Given the description of an element on the screen output the (x, y) to click on. 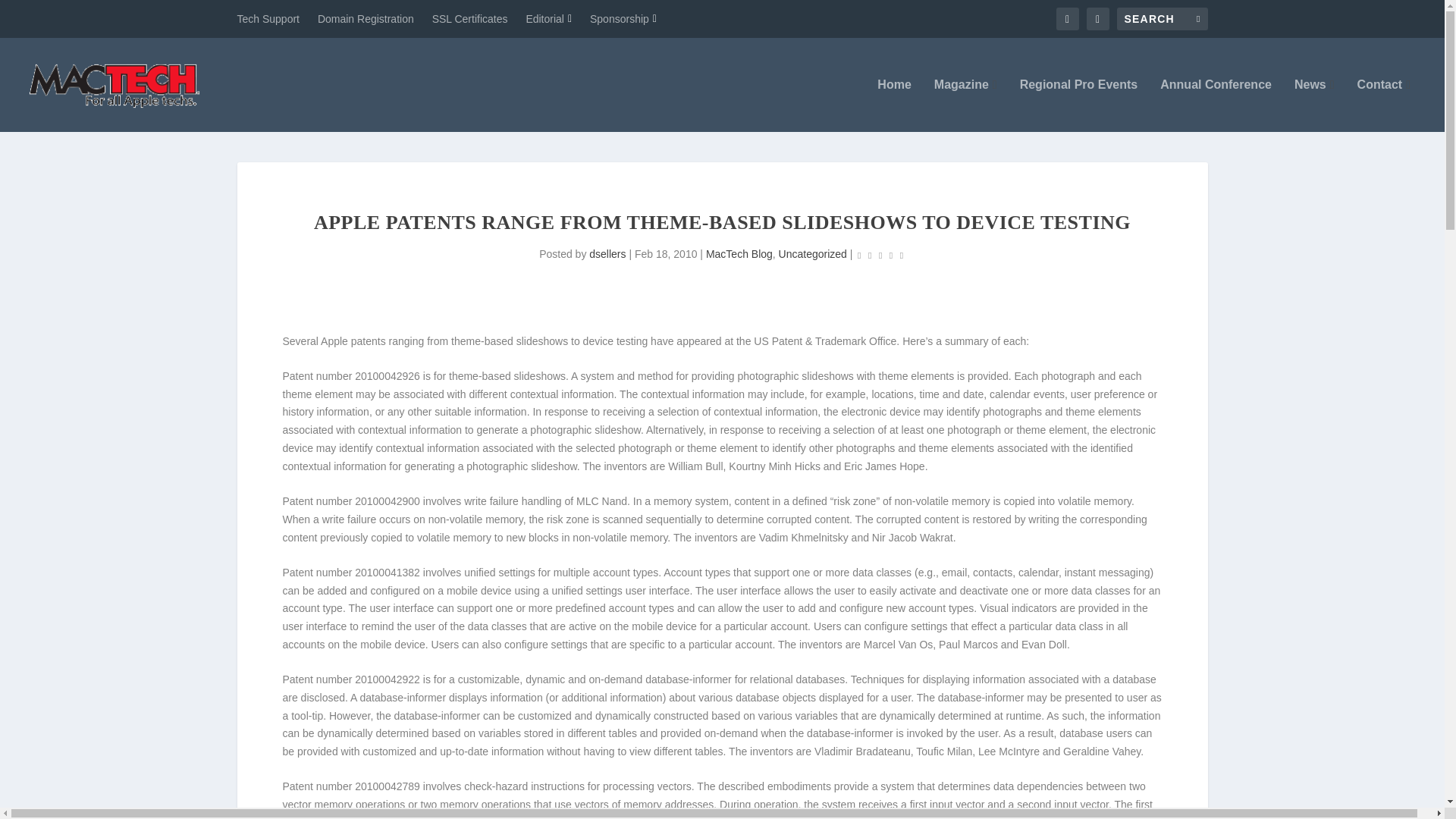
Domain Registration (365, 18)
SSL Certificates (470, 18)
Sponsorship (622, 18)
Magazine (965, 104)
Regional Pro Events (1079, 104)
Rating: 0.00 (880, 254)
Posts by dsellers (607, 254)
Editorial (548, 18)
Search for: (1161, 18)
Annual Conference (1215, 104)
Tech Support (267, 18)
Contact (1383, 104)
